Given the description of an element on the screen output the (x, y) to click on. 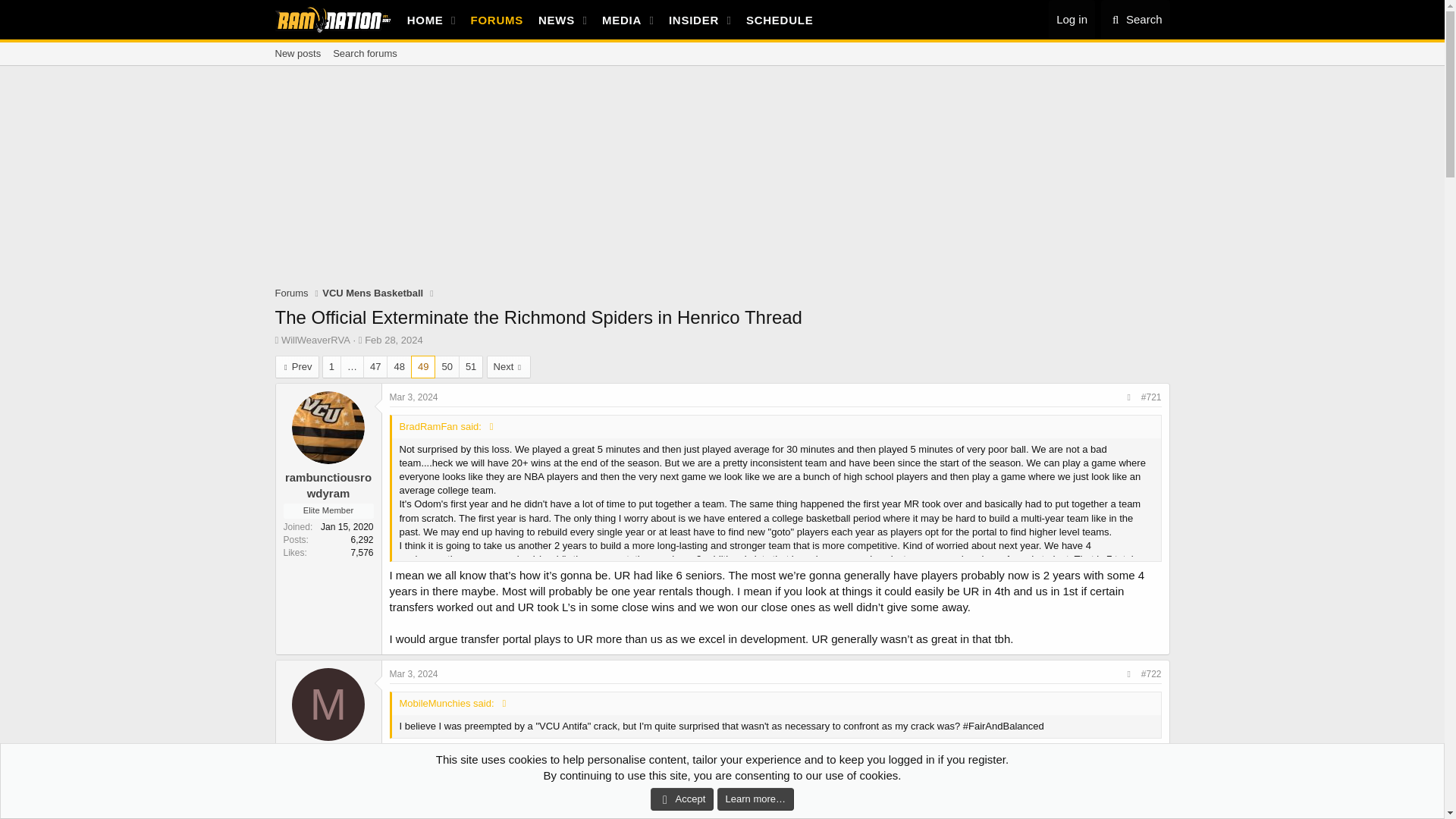
Search forums (364, 53)
Mar 3, 2024 at 4:12 PM (414, 674)
MEDIA (720, 53)
Log in (609, 19)
Forums (618, 19)
Start date (1071, 19)
INSIDER (291, 293)
NEWS (360, 339)
Search (690, 19)
Mar 3, 2024 at 3:35 PM (553, 19)
New posts (1135, 19)
SCHEDULE (414, 397)
HOME (296, 53)
